Given the description of an element on the screen output the (x, y) to click on. 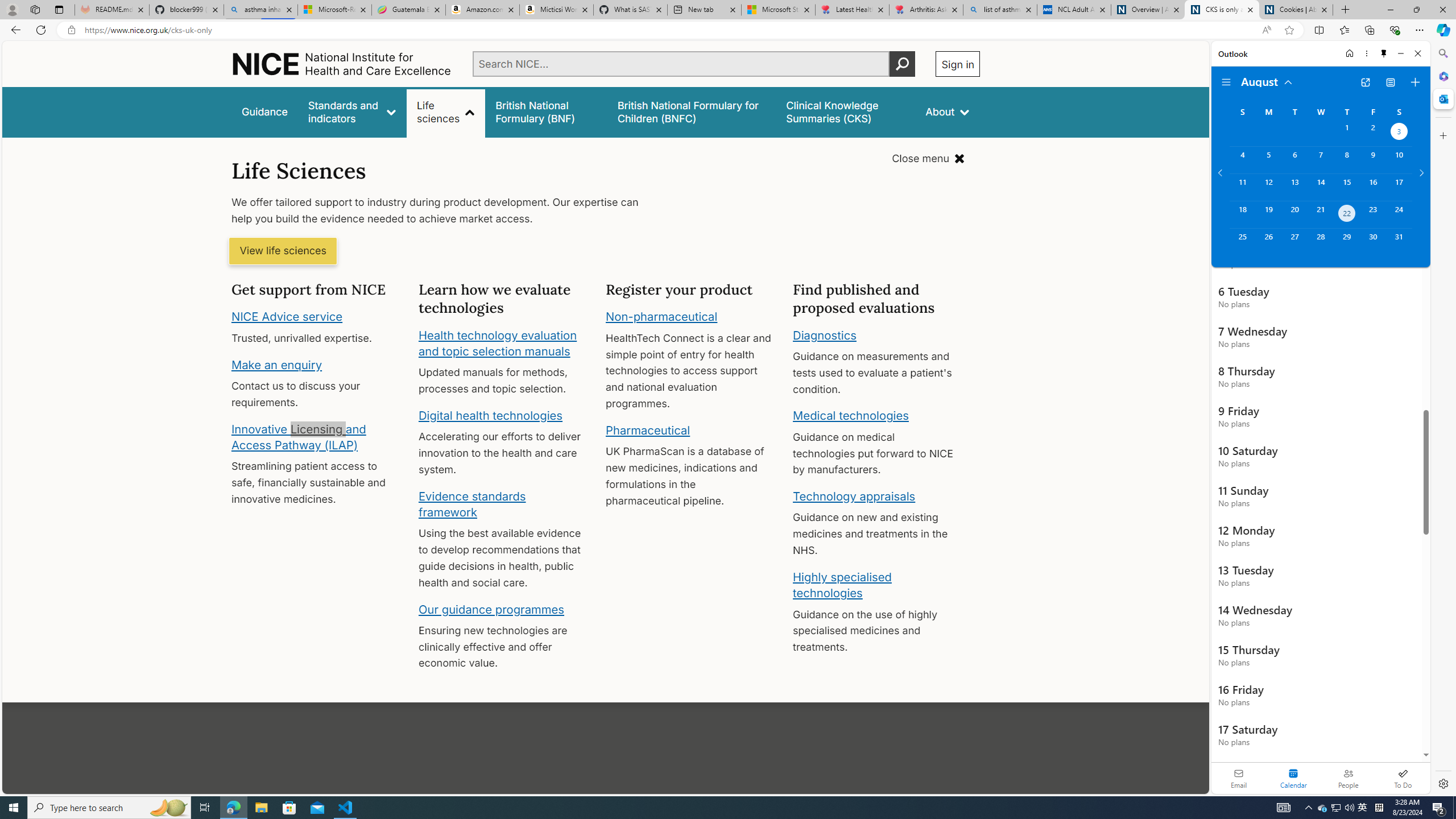
Folder navigation (1225, 82)
Friday, August 9, 2024.  (1372, 159)
Thursday, August 22, 2024. Today.  (1346, 214)
Tuesday, August 13, 2024.  (1294, 186)
list of asthma inhalers uk - Search (1000, 9)
Saturday, August 24, 2024.  (1399, 214)
View life sciences (282, 251)
